Given the description of an element on the screen output the (x, y) to click on. 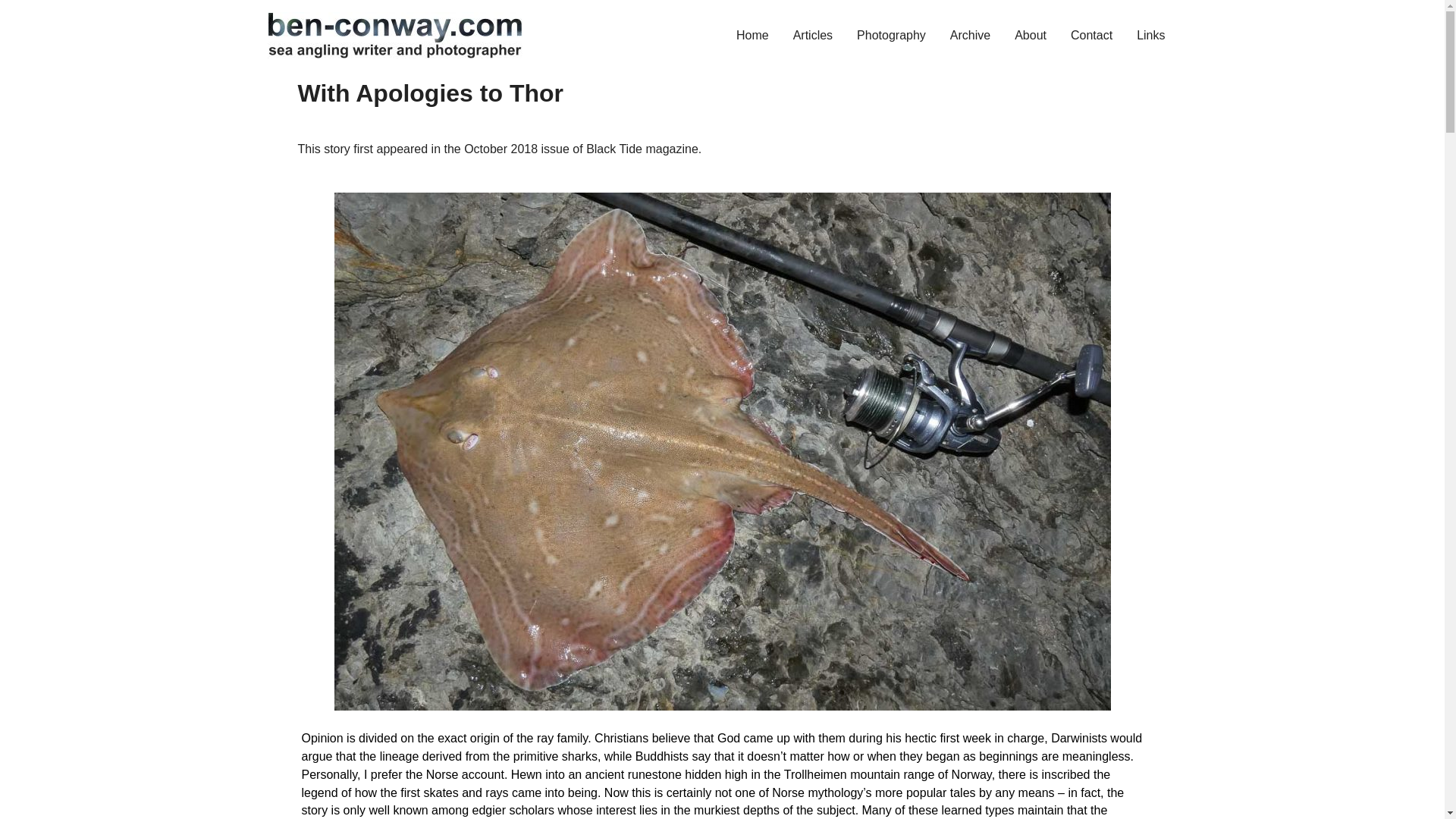
Links (1150, 34)
About (1030, 34)
Articles (812, 34)
Photography (890, 34)
Contact (1091, 34)
Archive (970, 34)
Home (751, 34)
